Given the description of an element on the screen output the (x, y) to click on. 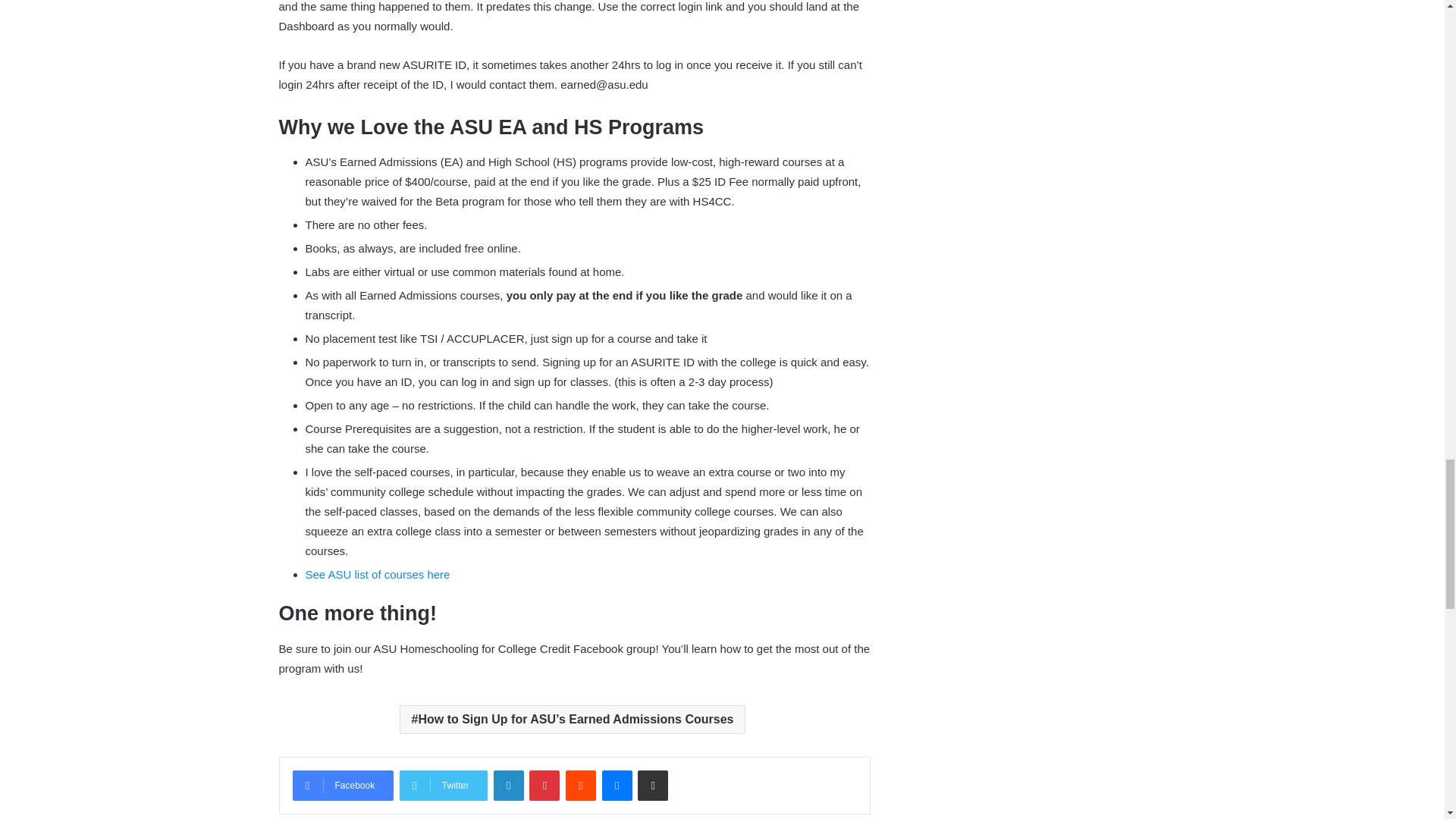
LinkedIn (508, 785)
Facebook (343, 785)
Pinterest (544, 785)
Twitter (442, 785)
Messenger (616, 785)
See ASU list of courses here (376, 574)
Twitter (442, 785)
Share via Email (652, 785)
Facebook (343, 785)
Reddit (580, 785)
